Given the description of an element on the screen output the (x, y) to click on. 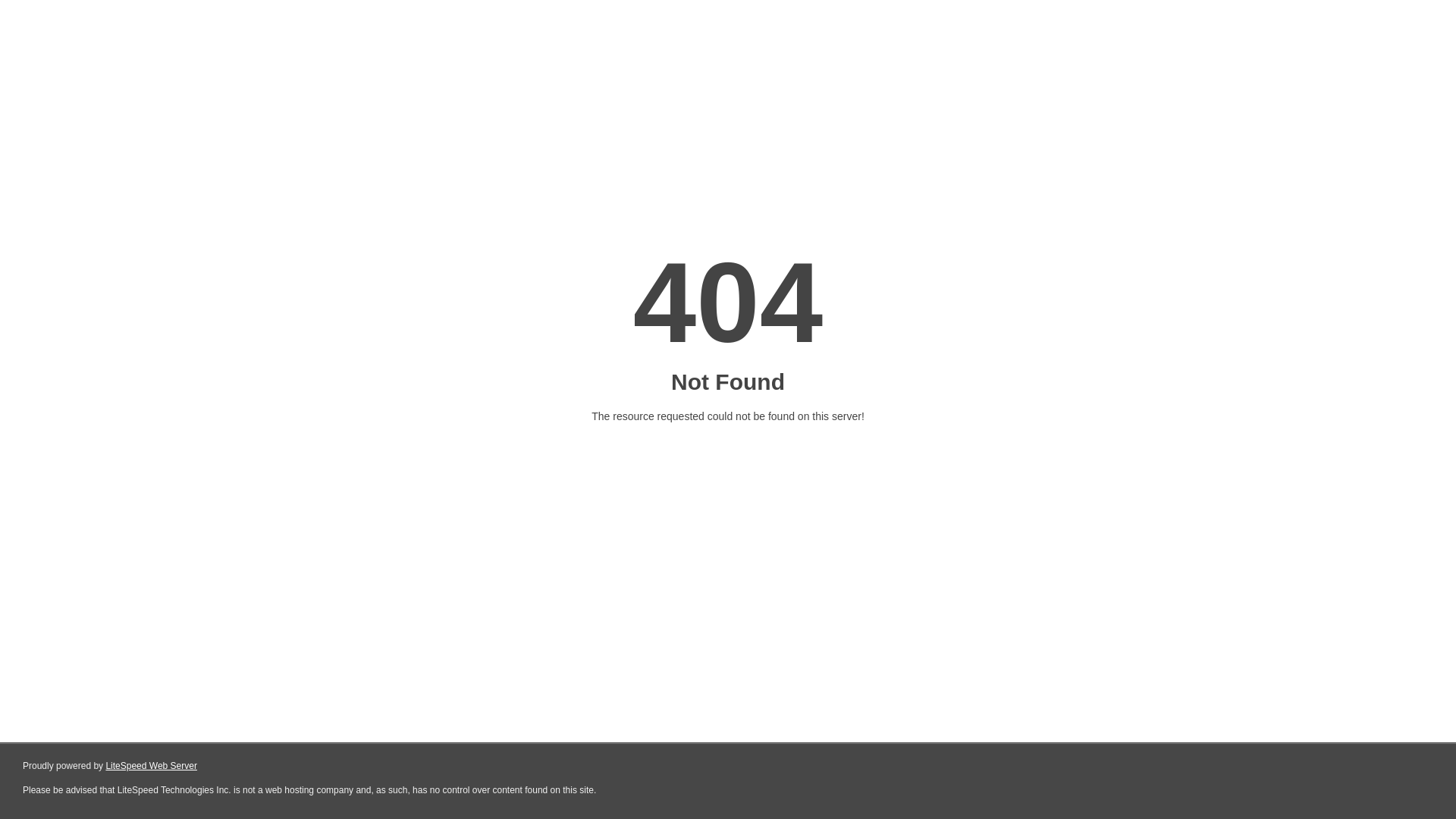
LiteSpeed Web Server Element type: text (151, 765)
